Given the description of an element on the screen output the (x, y) to click on. 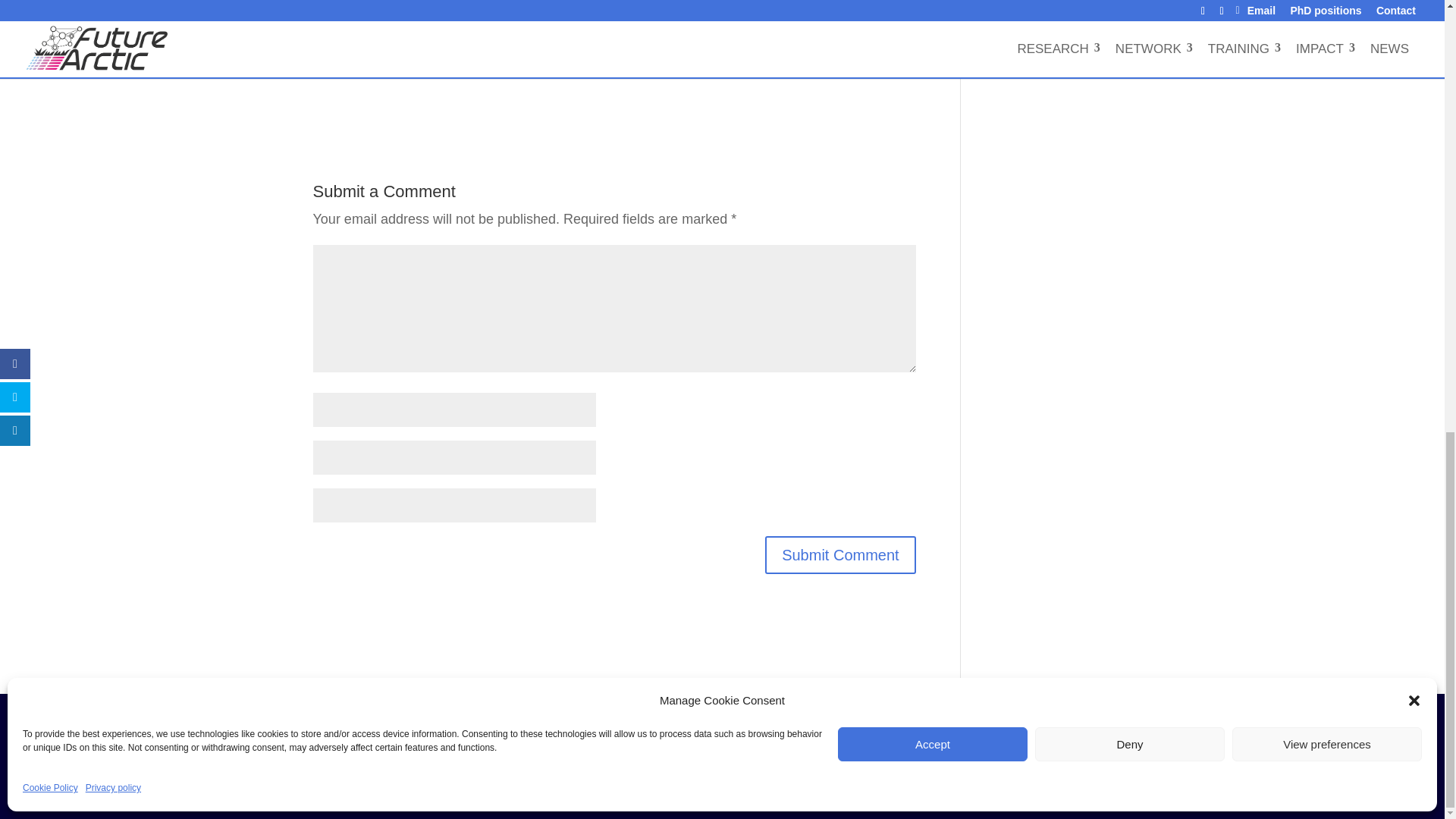
Follow on LinkedIn (738, 727)
Follow on X (706, 727)
Submit Comment (840, 555)
